Given the description of an element on the screen output the (x, y) to click on. 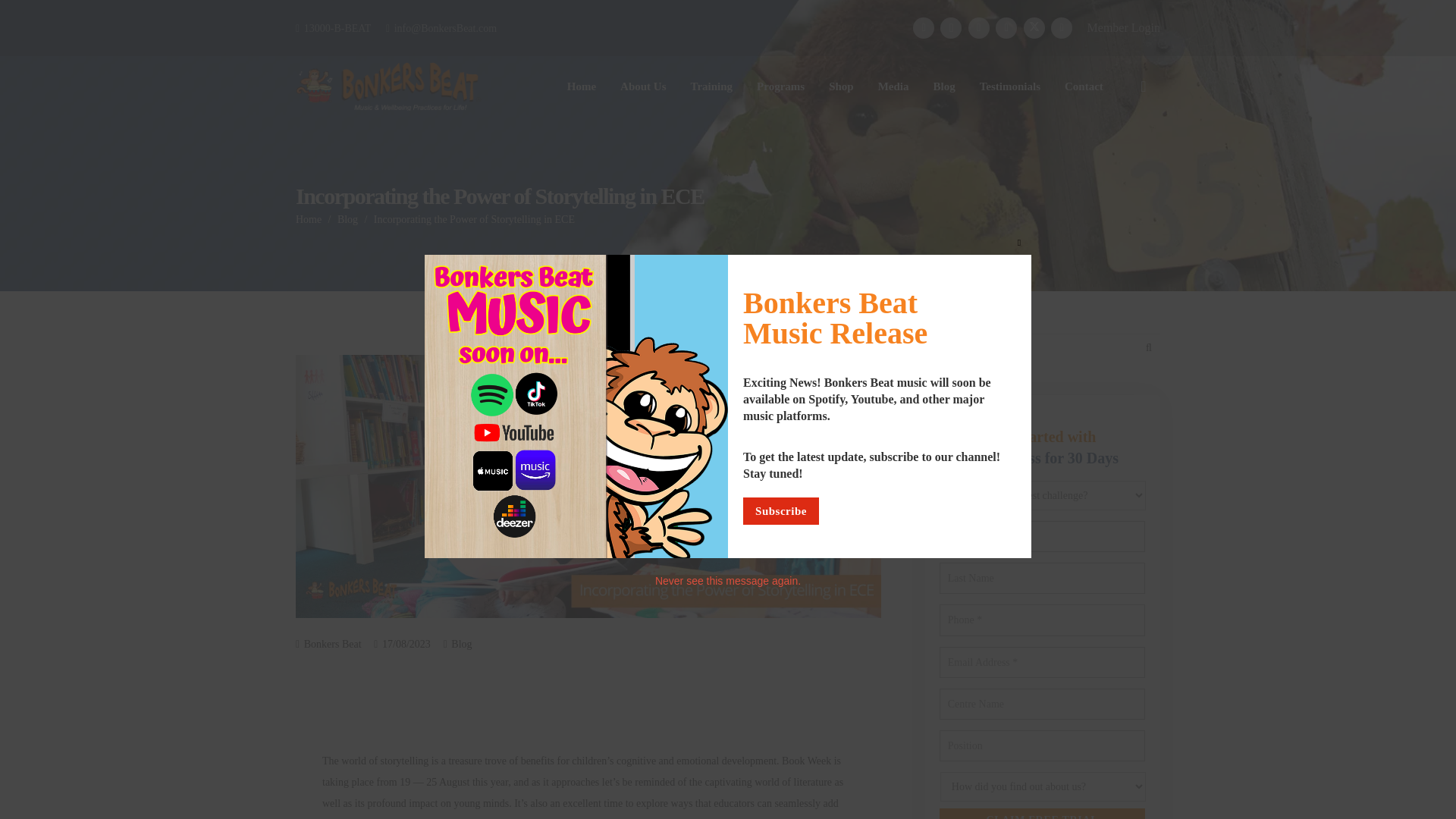
Media (893, 86)
Incorporating the Power of Storytelling in ECE (474, 219)
Training (711, 86)
YouTube (1005, 27)
Home (308, 219)
Home (581, 86)
Instagram (950, 27)
Bonkers Beat (332, 644)
Programs (780, 86)
Blog (461, 644)
